Given the description of an element on the screen output the (x, y) to click on. 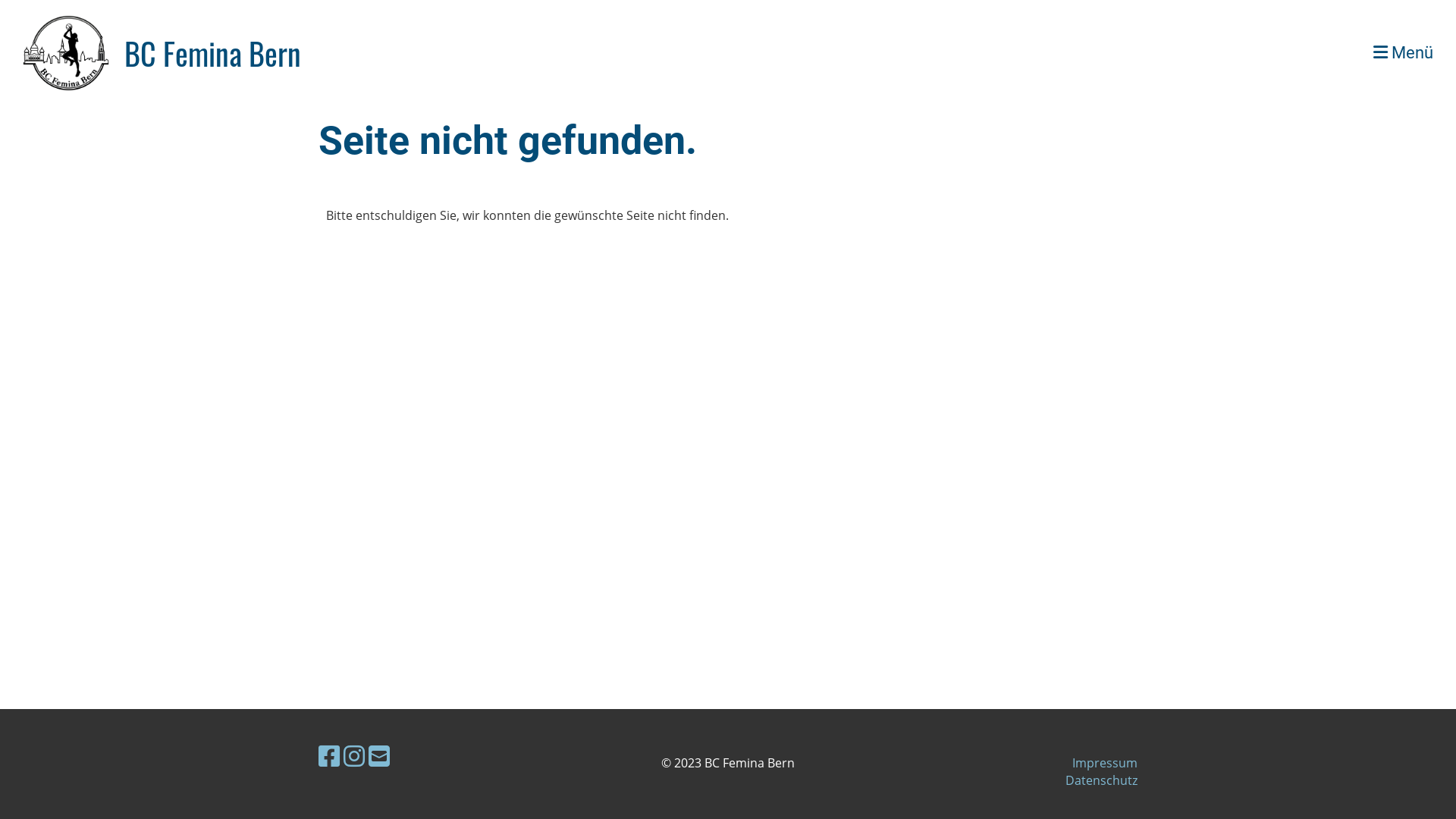
BC Femina Bern Element type: text (212, 52)
Datenschutz Element type: text (1101, 779)
Impressum Element type: text (1104, 762)
